Given the description of an element on the screen output the (x, y) to click on. 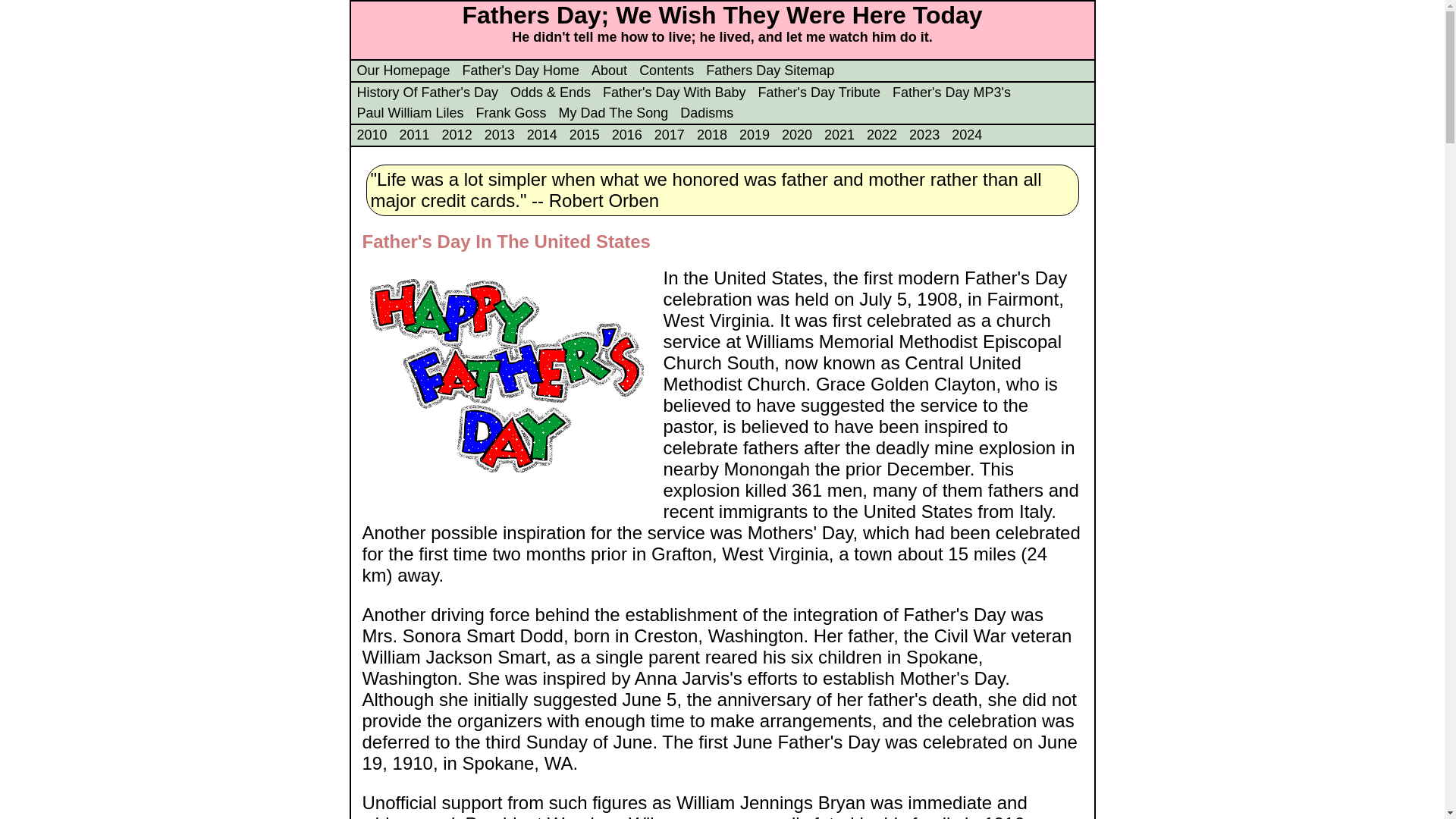
2019 (754, 134)
2012 (456, 134)
2018 (711, 134)
Frank Goss (511, 112)
2017 (668, 134)
Dadisms (706, 112)
Father's Day With Baby (673, 92)
2010 (371, 134)
Father's Day Home (521, 70)
2015 (584, 134)
